Given the description of an element on the screen output the (x, y) to click on. 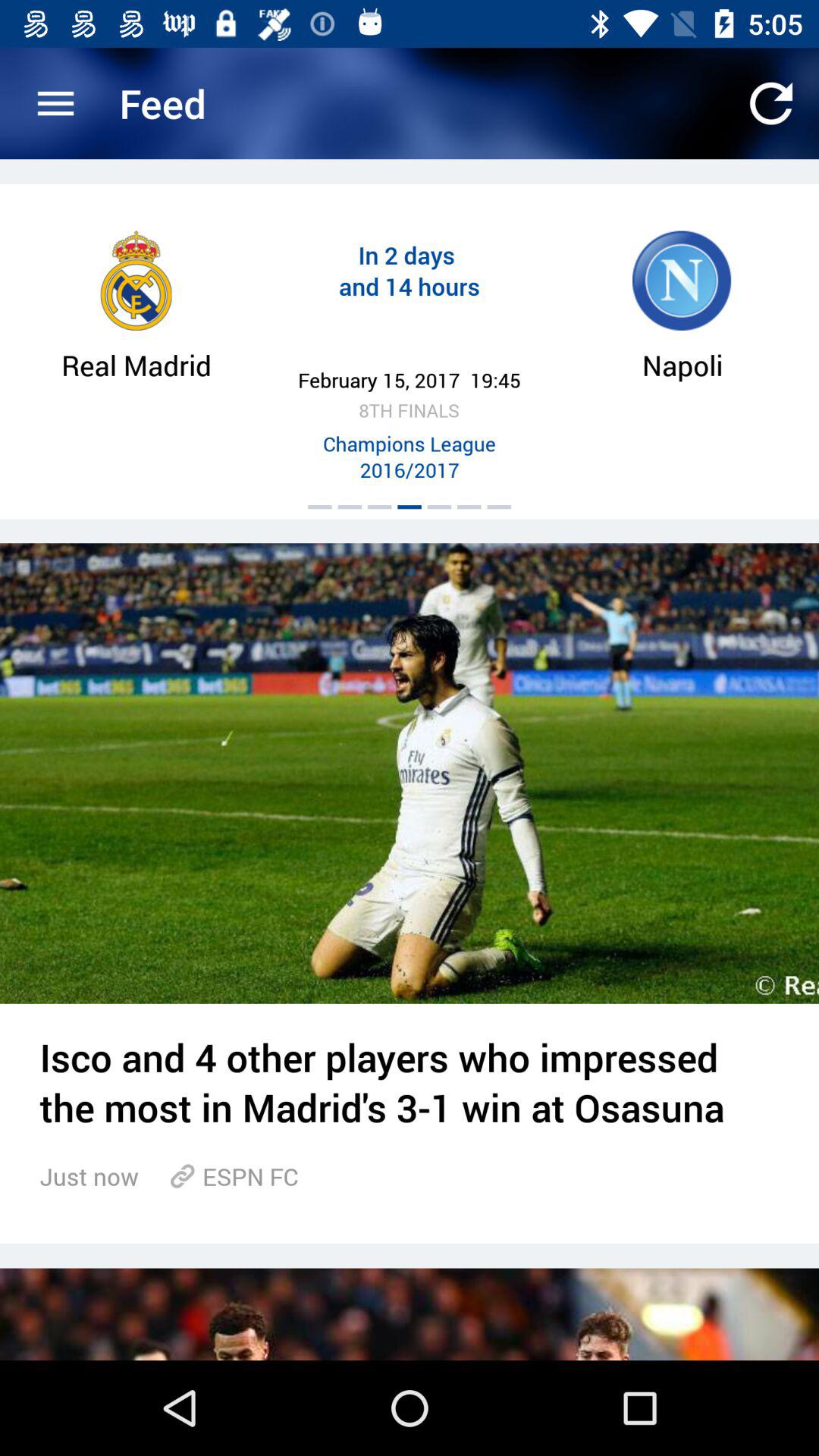
click the item next to feed (55, 103)
